Given the description of an element on the screen output the (x, y) to click on. 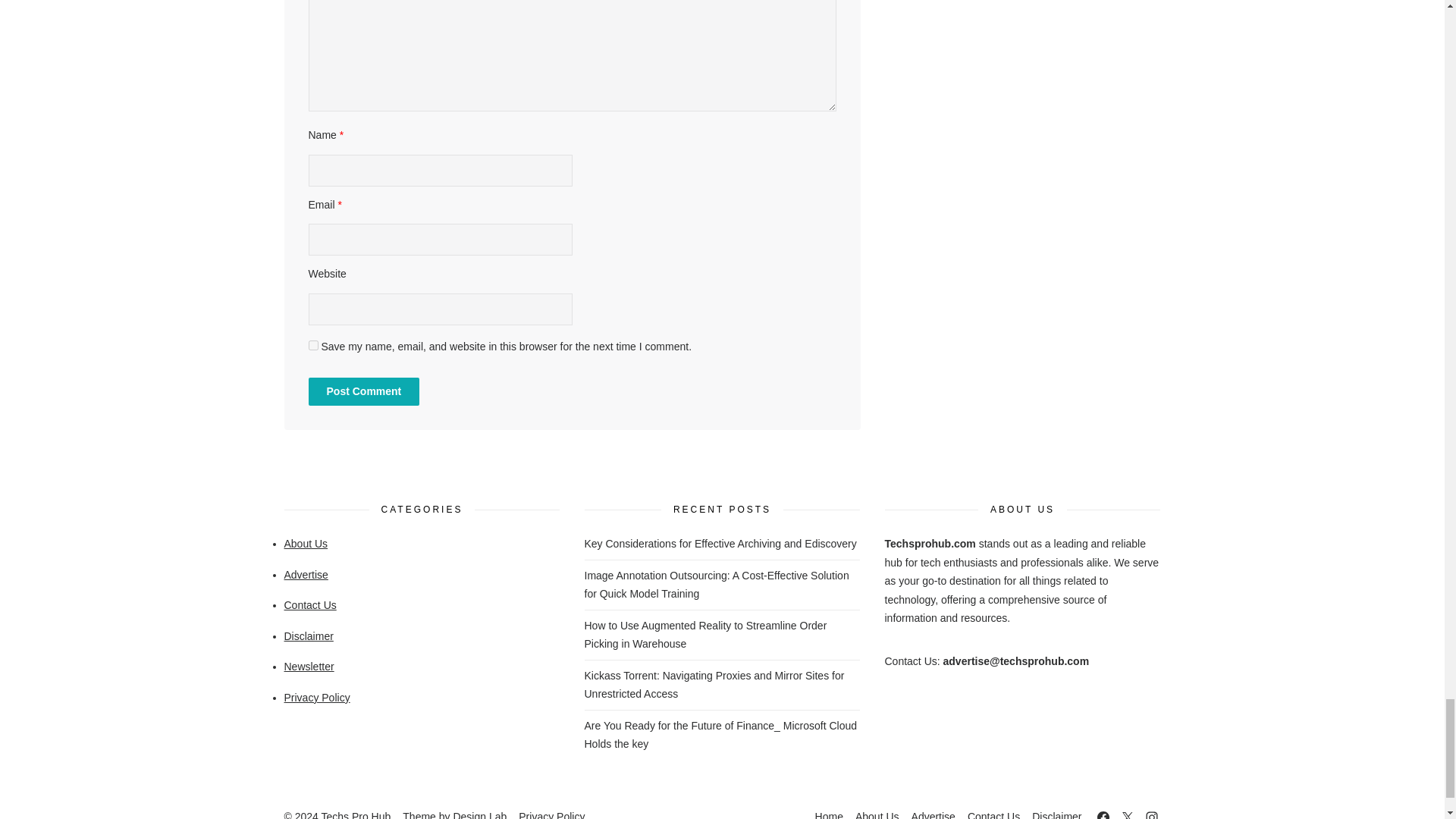
yes (312, 345)
Post Comment (363, 391)
Post Comment (363, 391)
